Given the description of an element on the screen output the (x, y) to click on. 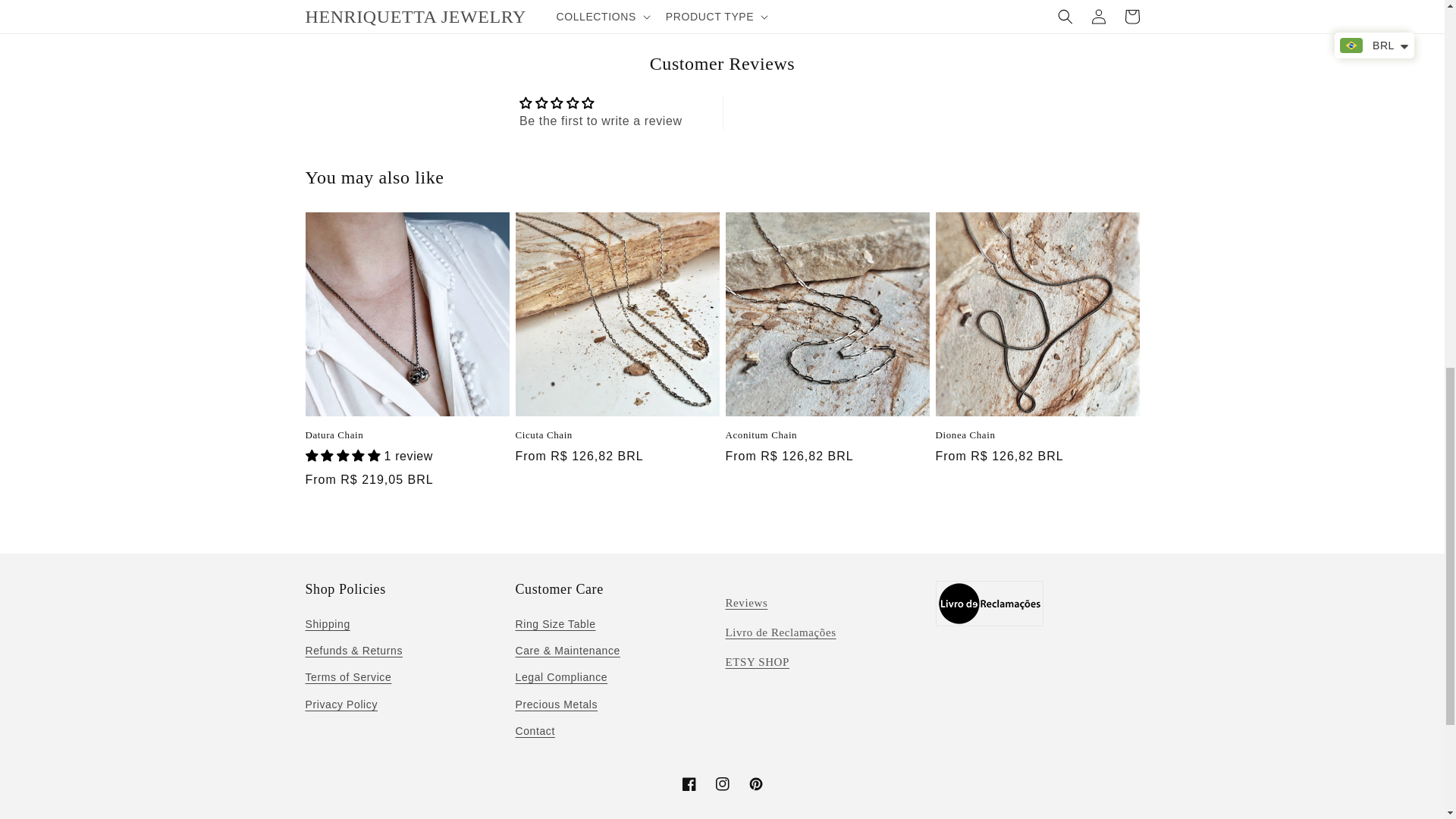
reviews (746, 603)
etsy (757, 662)
